Given the description of an element on the screen output the (x, y) to click on. 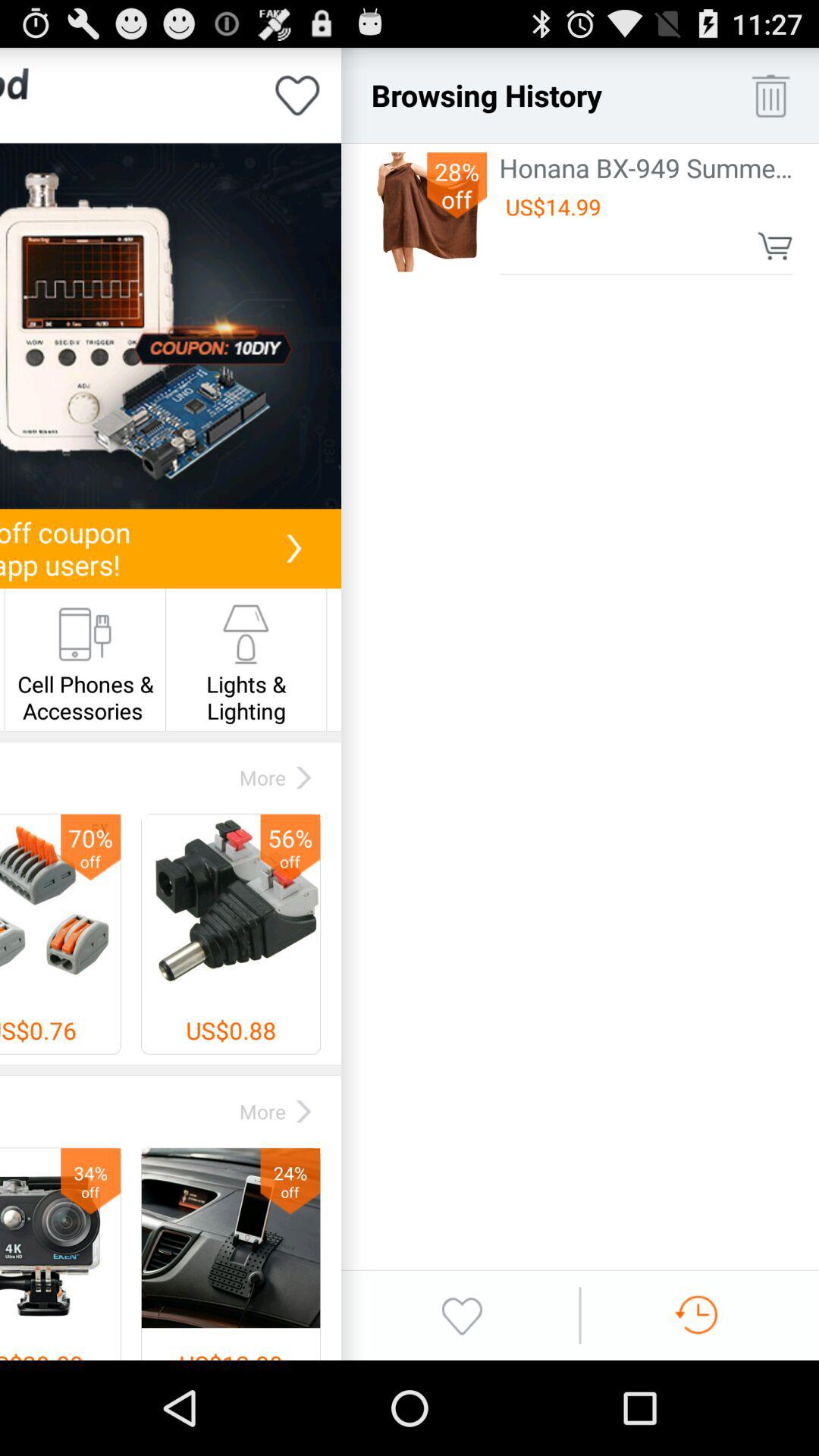
save item to favorites (297, 95)
